Given the description of an element on the screen output the (x, y) to click on. 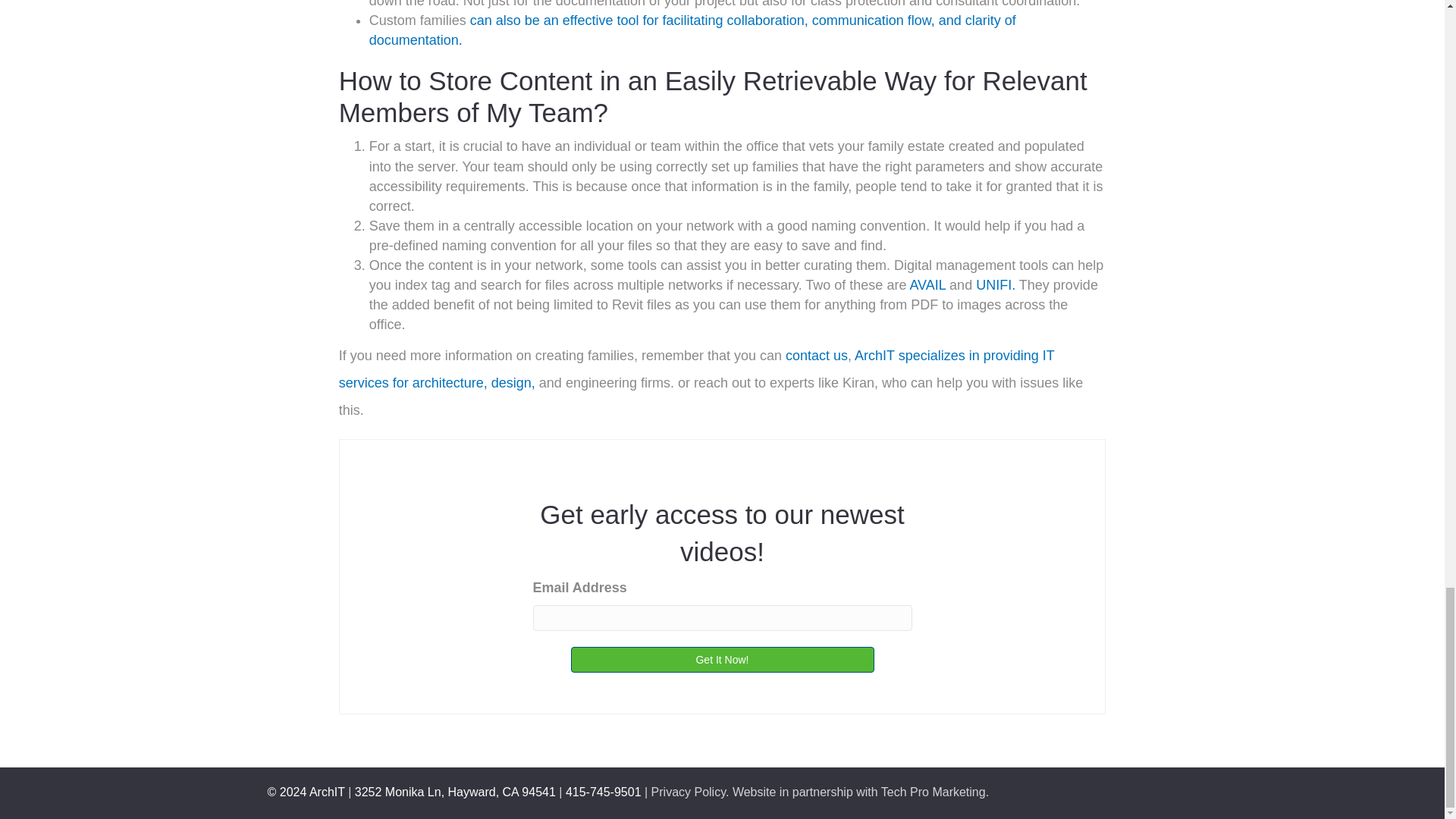
AVAIL (926, 284)
Tech Pro Marketing (932, 791)
Get It Now! (721, 659)
Get It Now! (721, 659)
Privacy Policy (687, 791)
UNIFI. (994, 284)
contact us (816, 355)
